Given the description of an element on the screen output the (x, y) to click on. 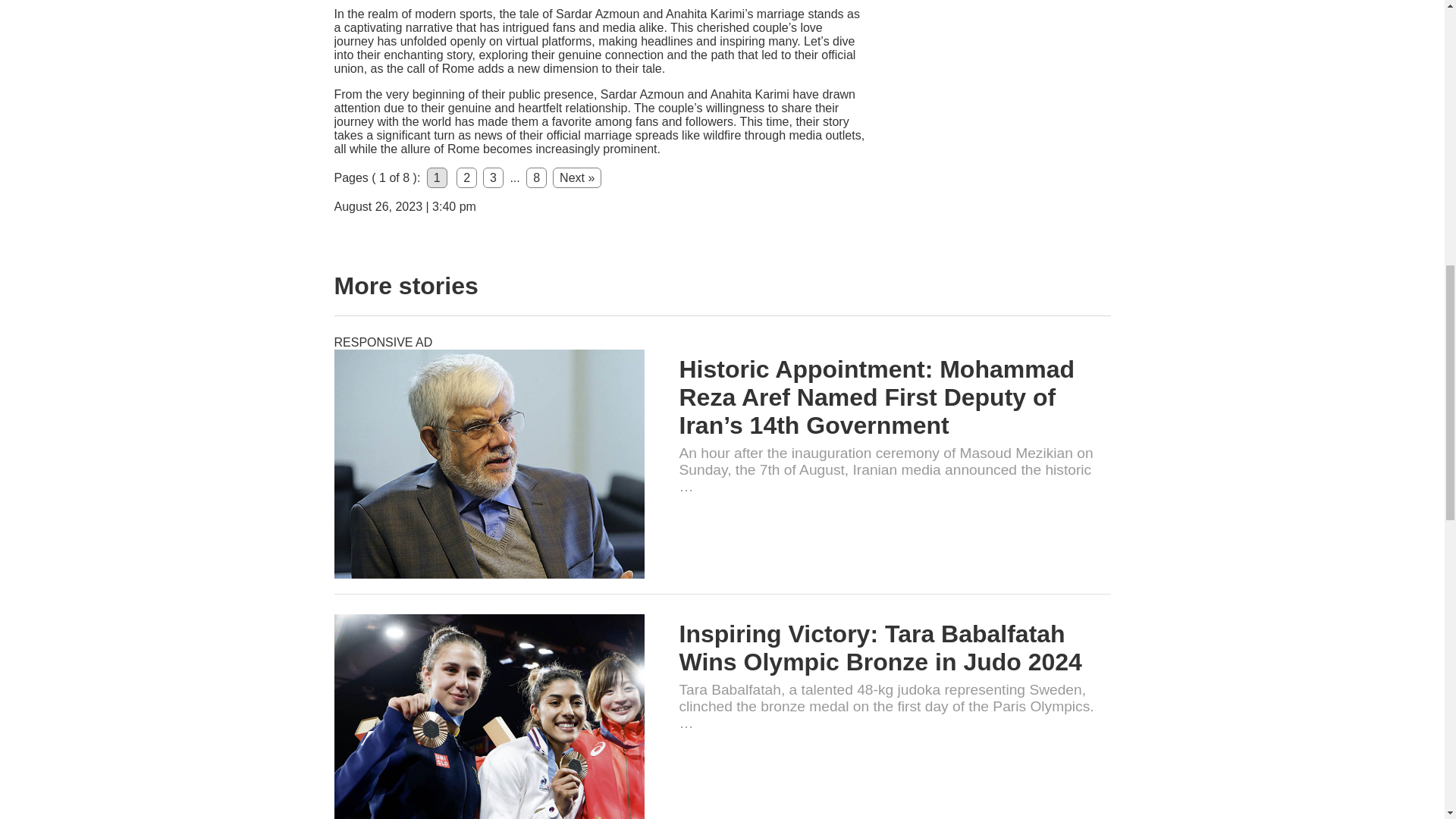
3 (493, 177)
8 (536, 177)
2 (467, 177)
